Given the description of an element on the screen output the (x, y) to click on. 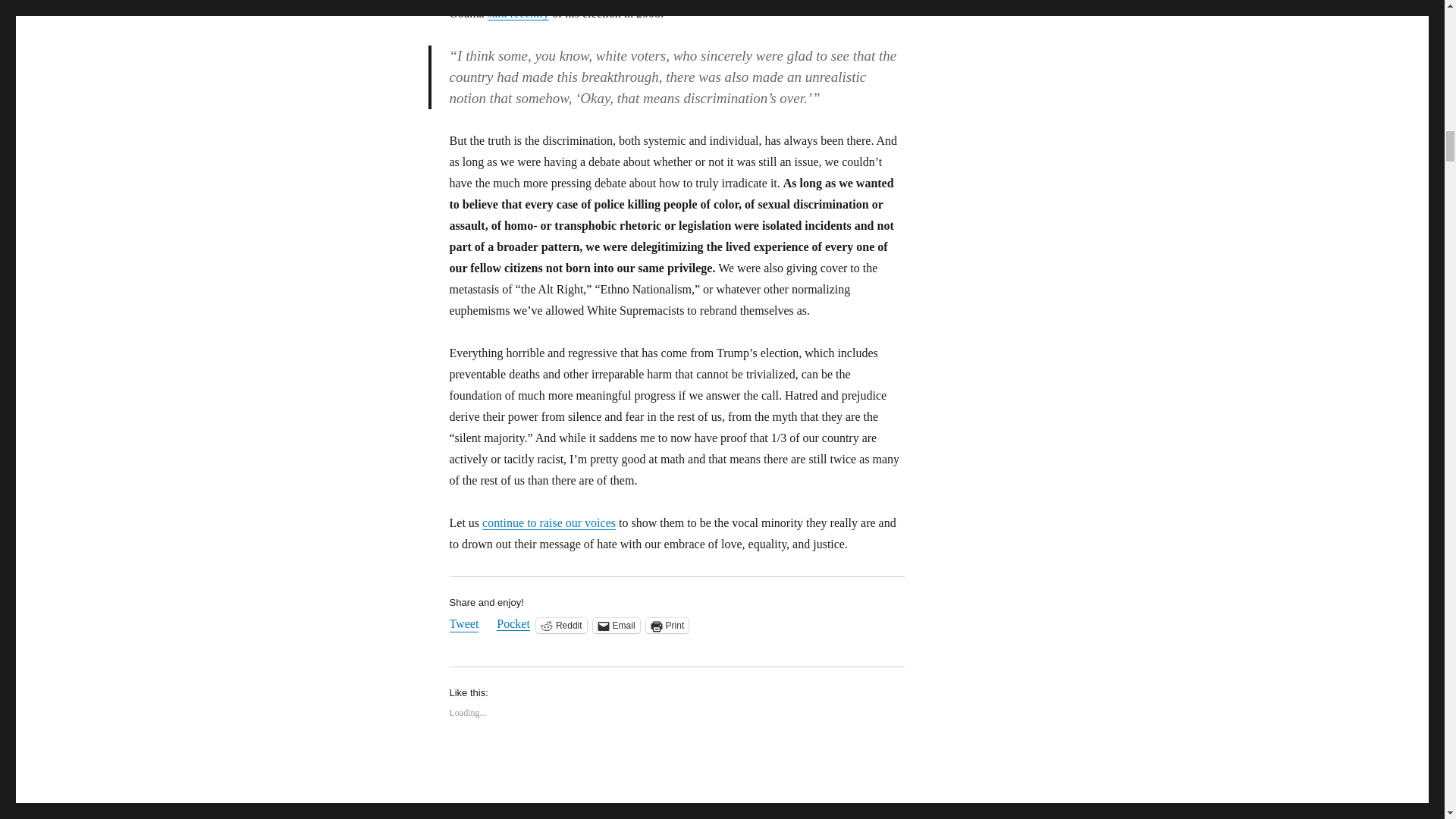
Email (616, 625)
Pocket (512, 623)
said recently (517, 12)
Click to print (667, 625)
Click to email a link to a friend (616, 625)
Click to share on Reddit (560, 625)
Print (667, 625)
continue to raise our voices (548, 522)
Tweet (463, 624)
Reddit (560, 625)
